Given the description of an element on the screen output the (x, y) to click on. 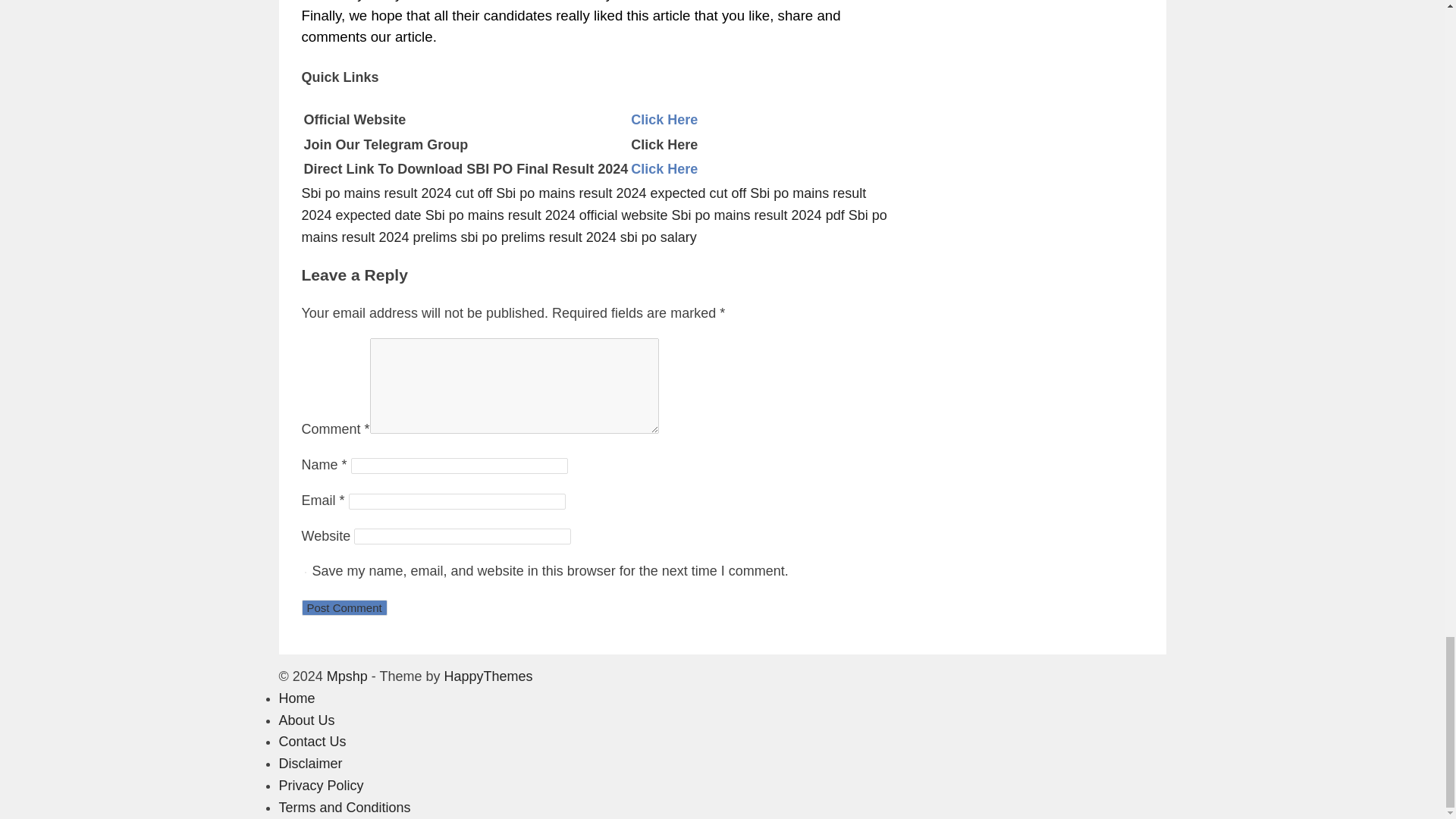
Click Here (663, 168)
Sbi po mains result 2024 prelims (593, 226)
Sbi po mains result 2024 pdf (757, 215)
Sbi po mains result 2024 cut off (397, 192)
Home (297, 698)
Terms and Conditions (344, 807)
Privacy Policy (321, 785)
Sbi po mains result 2024 expected cut off (620, 192)
Click Here (663, 119)
sbi po prelims result 2024 (538, 237)
About Us (306, 720)
Sbi po mains result 2024 official website (546, 215)
Sbi po mains result 2024 expected date (583, 203)
Mpshp (347, 676)
